Given the description of an element on the screen output the (x, y) to click on. 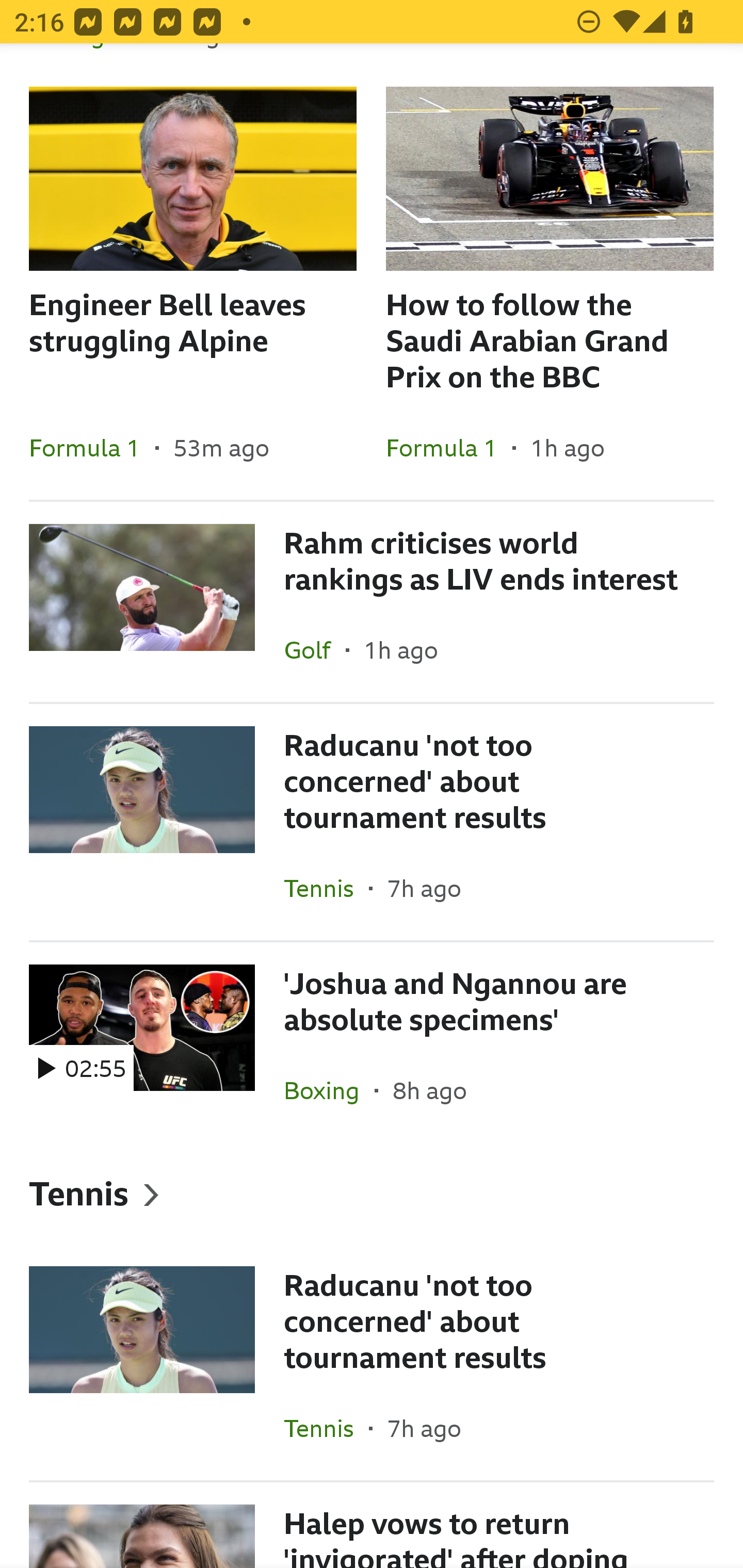
Tennis, Heading Tennis    (371, 1193)
